Given the description of an element on the screen output the (x, y) to click on. 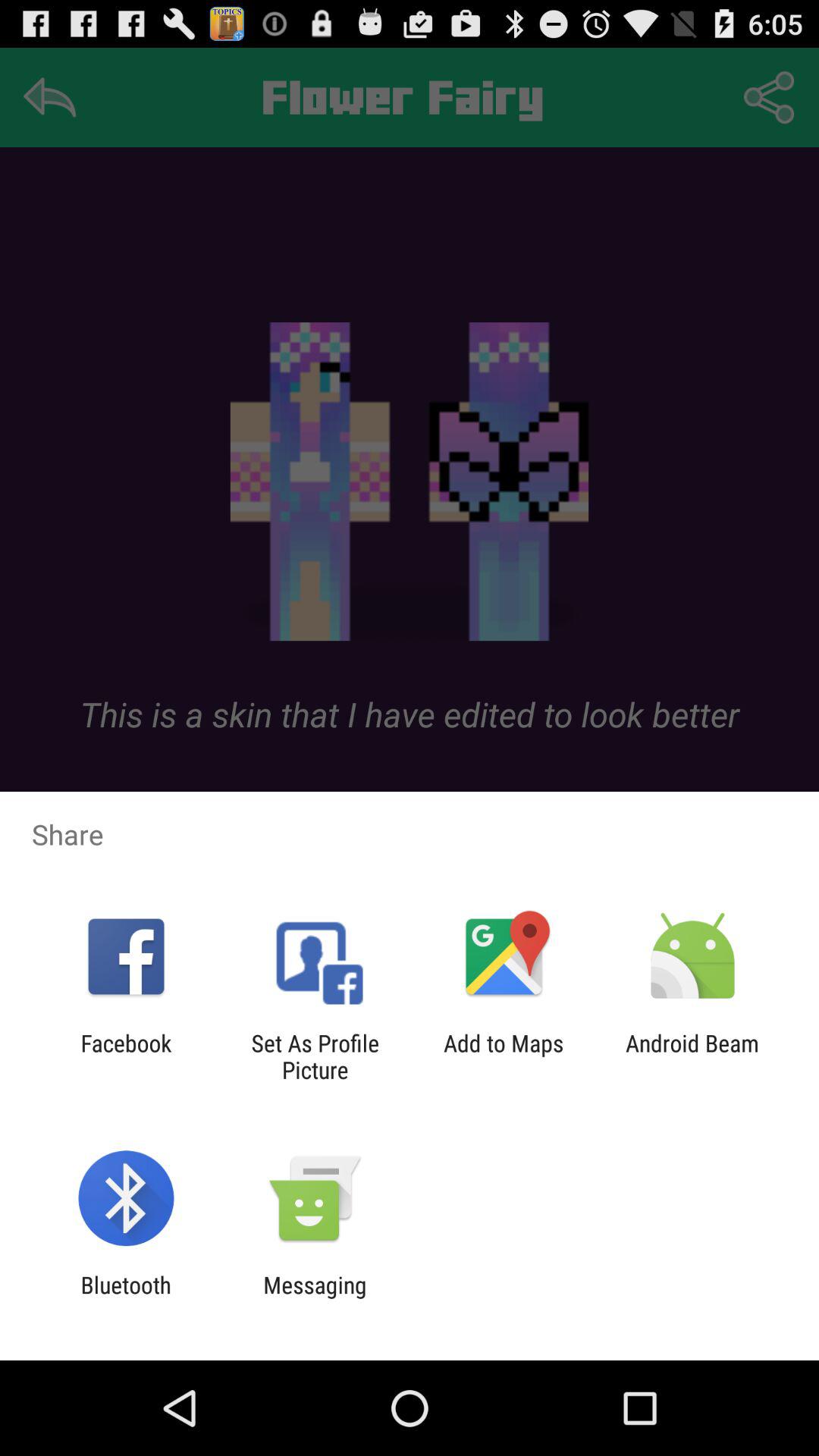
launch the icon to the right of facebook (314, 1056)
